Given the description of an element on the screen output the (x, y) to click on. 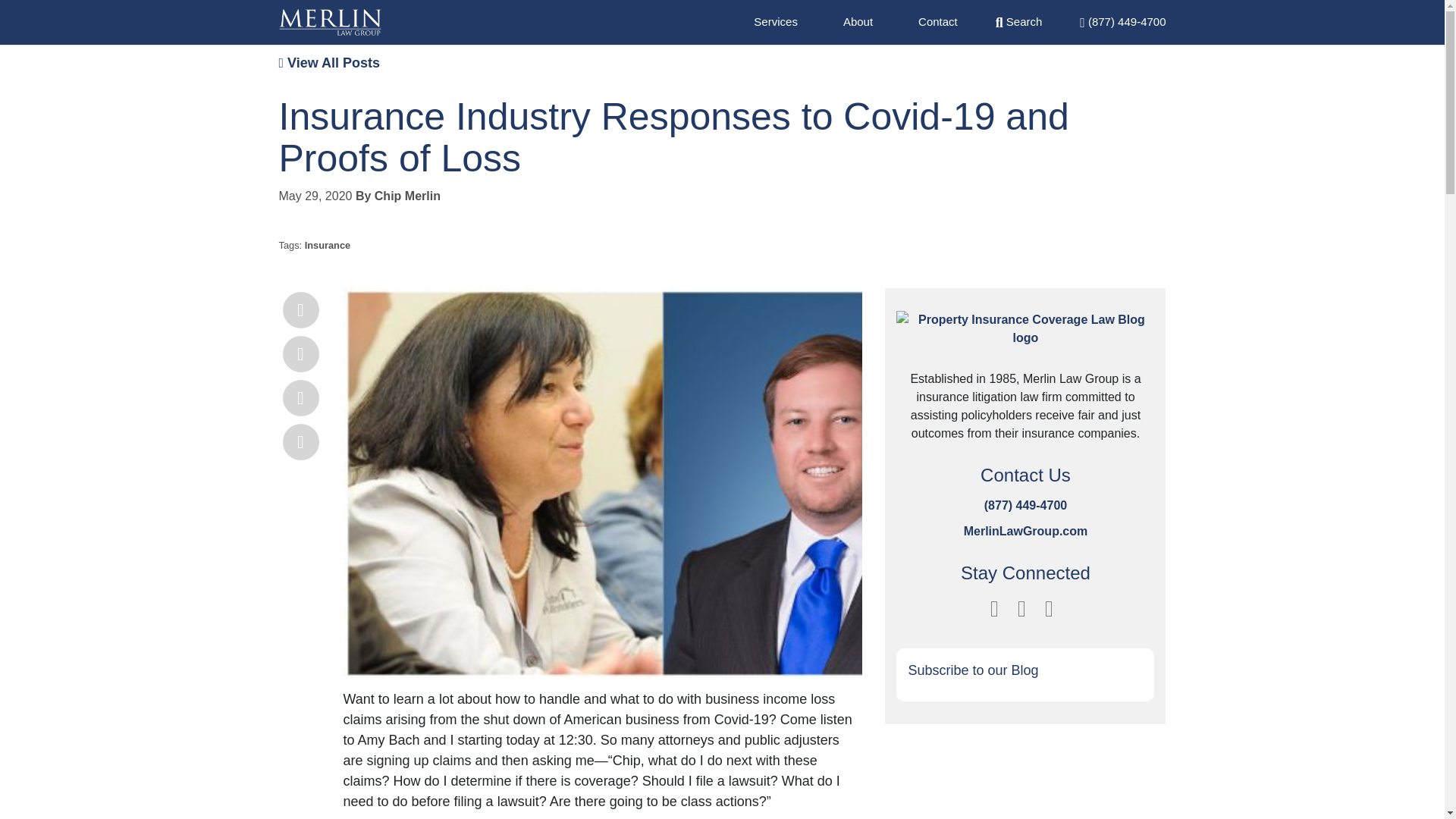
Menu (1123, 21)
Property Insurance Coverage Law Blog (1025, 338)
View All Posts (329, 62)
Search (1018, 21)
By Chip Merlin (398, 195)
Contact (938, 21)
Search (1018, 21)
Services (775, 21)
Insurance (327, 244)
Property Insurance Coverage Law Blog (330, 22)
